Given the description of an element on the screen output the (x, y) to click on. 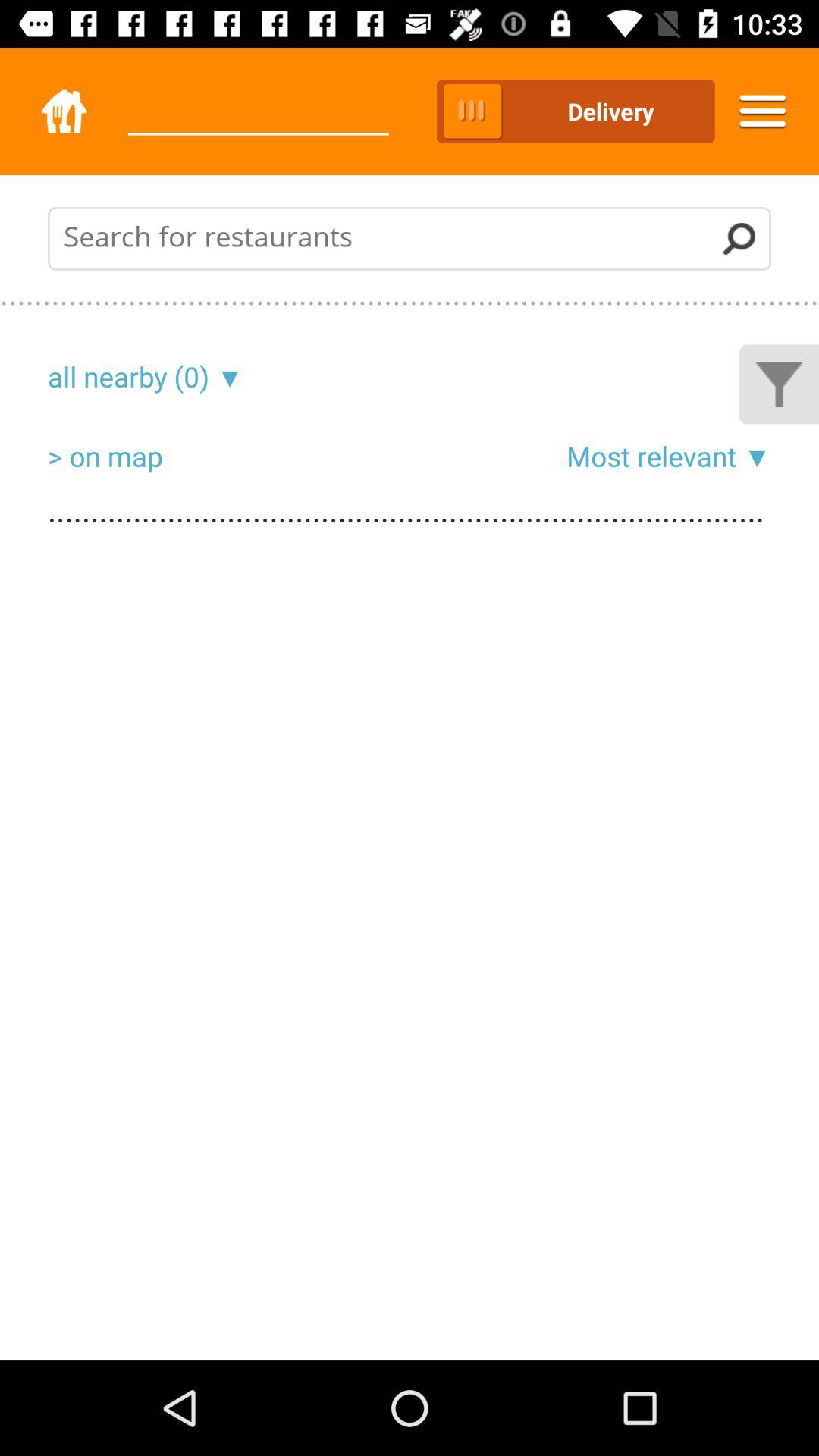
open the item to the right of the most relevant icon (753, 455)
